Given the description of an element on the screen output the (x, y) to click on. 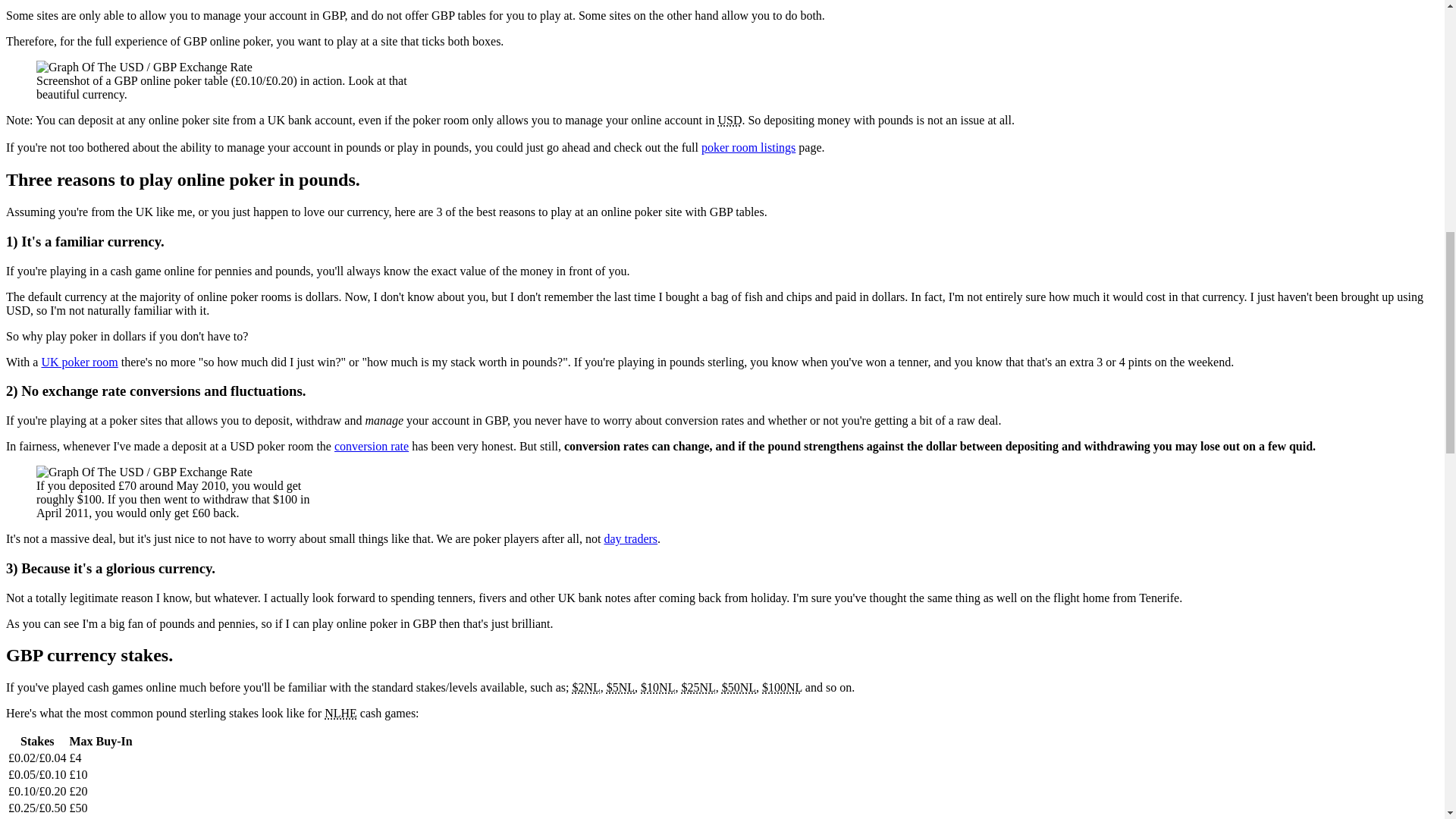
No Limit Hold'em (340, 712)
day traders (631, 538)
conversion rate (371, 445)
US Dollars (729, 119)
poker room listings (747, 146)
UK poker room (78, 361)
